Given the description of an element on the screen output the (x, y) to click on. 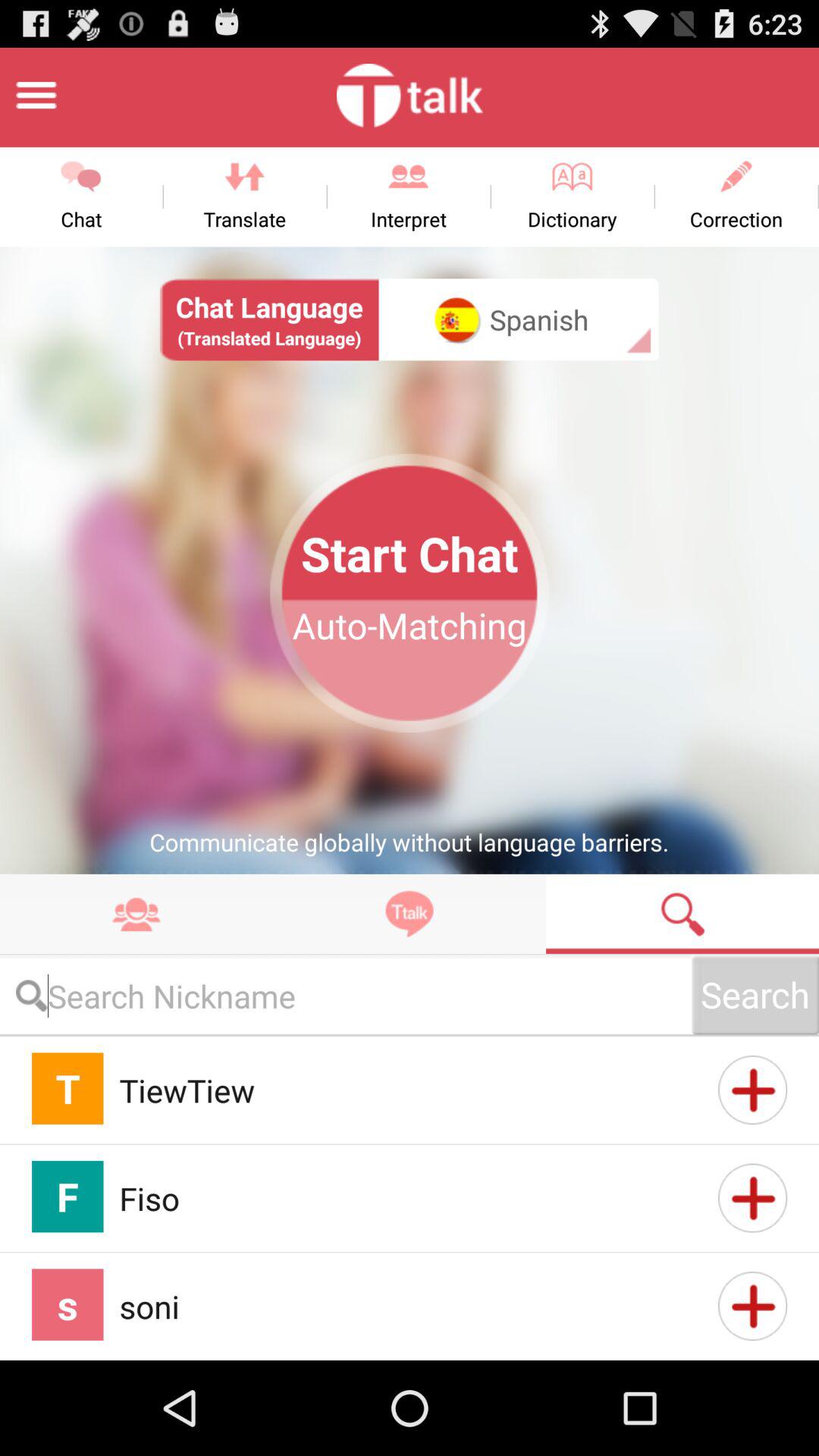
add to contacts (752, 1089)
